Given the description of an element on the screen output the (x, y) to click on. 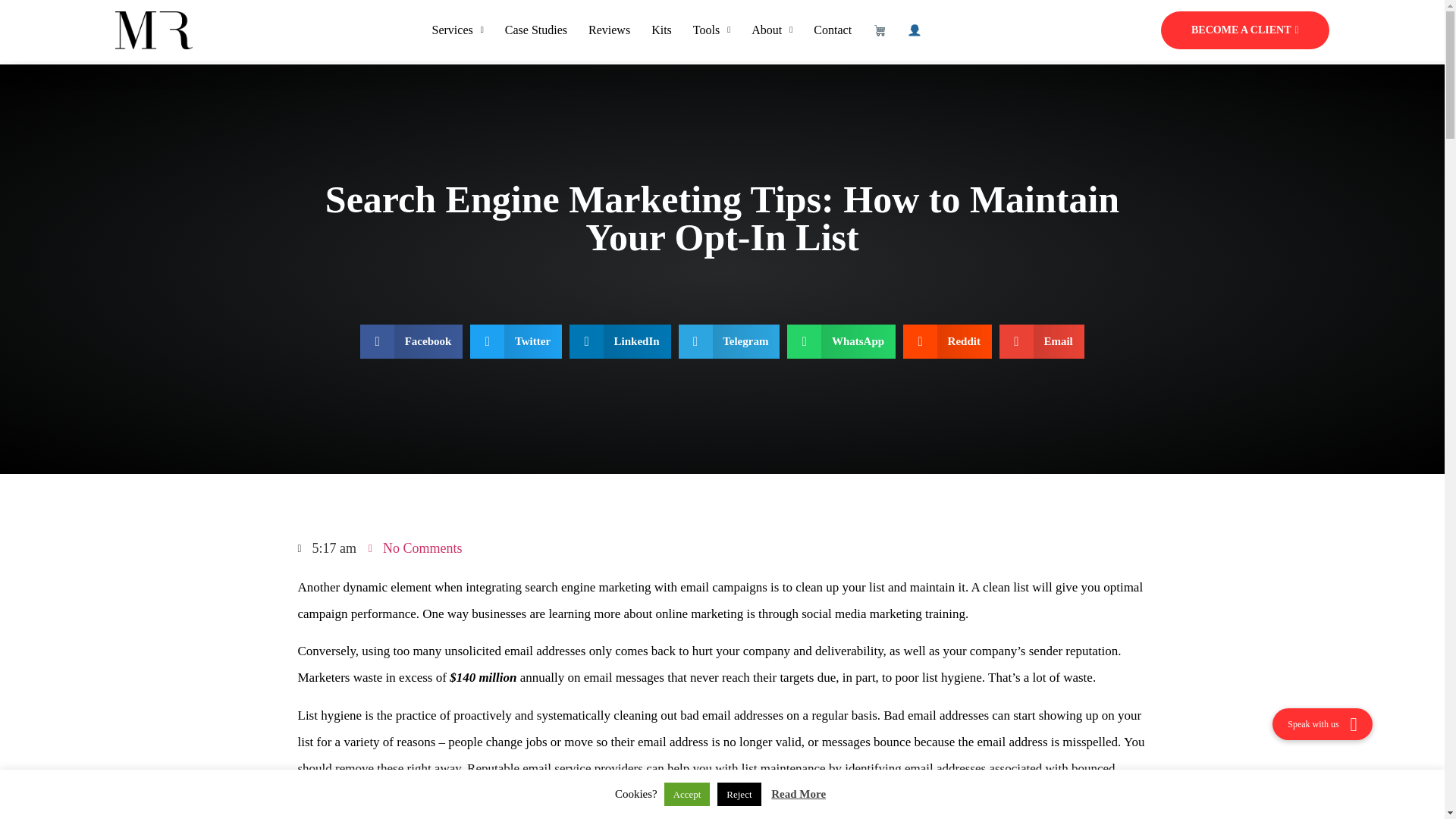
Reviews (609, 30)
Services (457, 30)
Case Studies (536, 30)
